Given the description of an element on the screen output the (x, y) to click on. 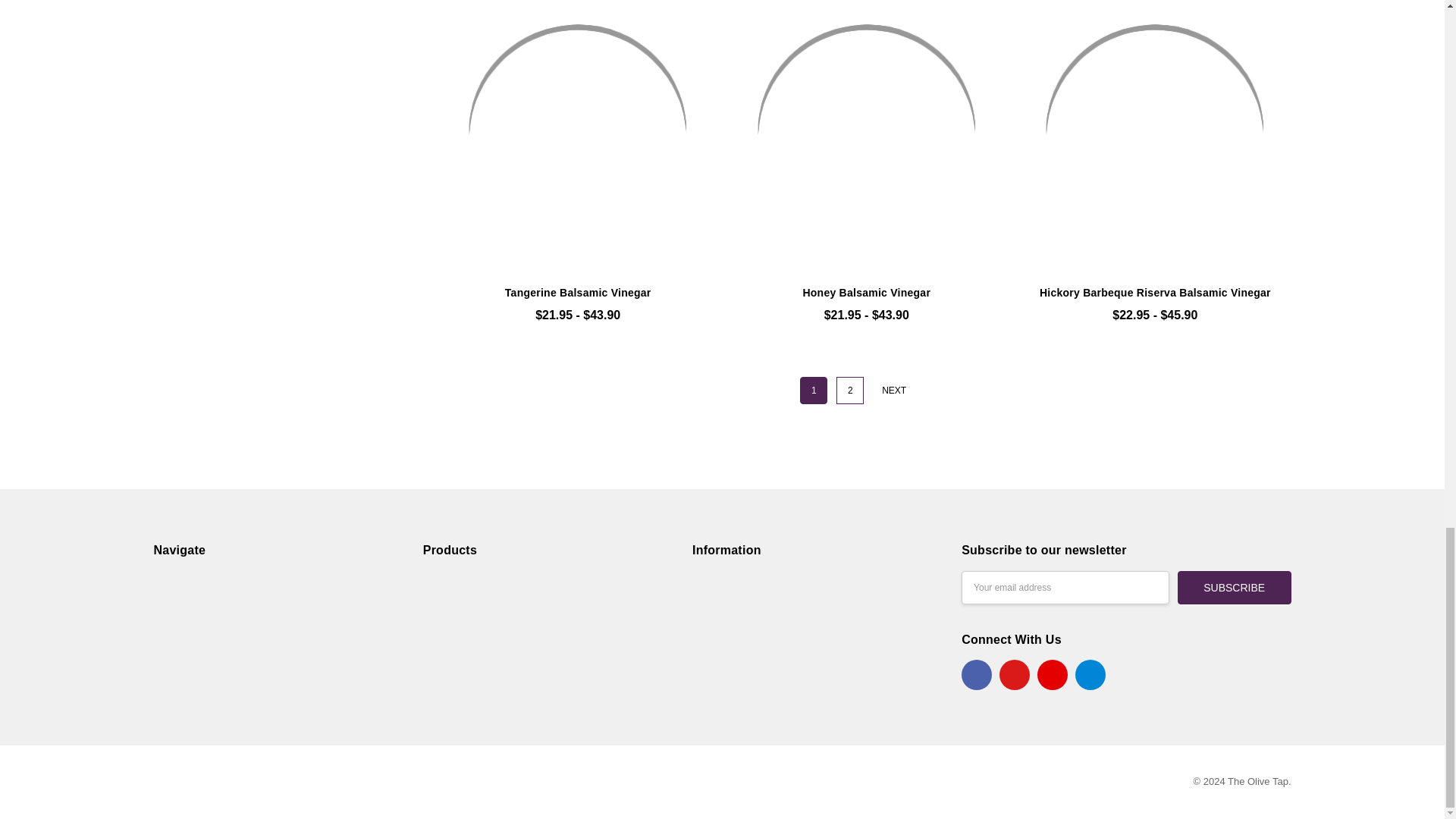
Hickory Barbeque Riserva Balsamic Vinegar from The Olive Tap (1154, 135)
Subscribe (1234, 587)
Honey Balsamic Vinegar from The Olive Tap (866, 135)
Tangerine Balsamic Vinegar from The Olive Tap (577, 135)
